Given the description of an element on the screen output the (x, y) to click on. 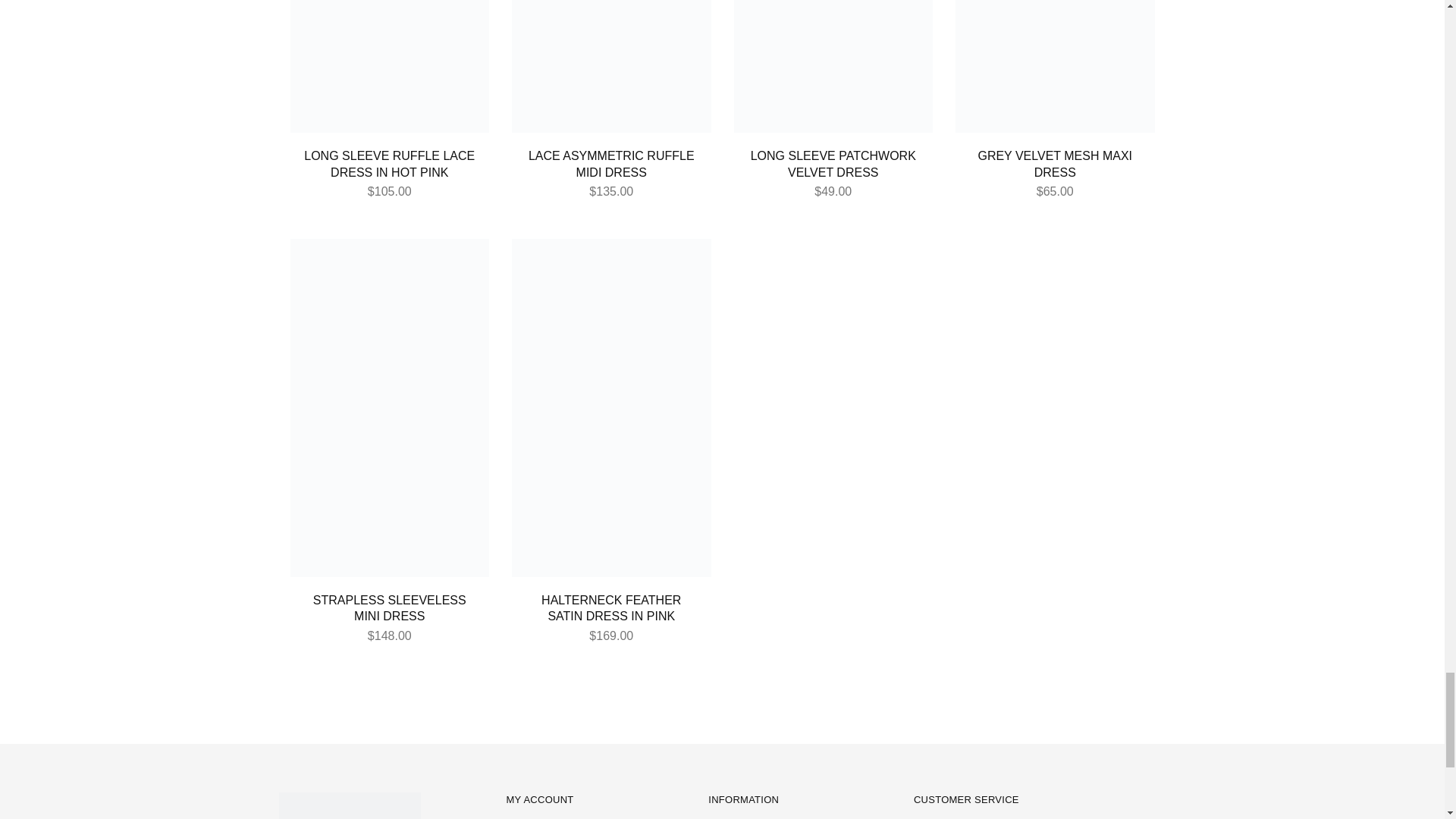
LONG SLEEVE RUFFLE LACE DRESS IN HOT PINK (389, 163)
